Given the description of an element on the screen output the (x, y) to click on. 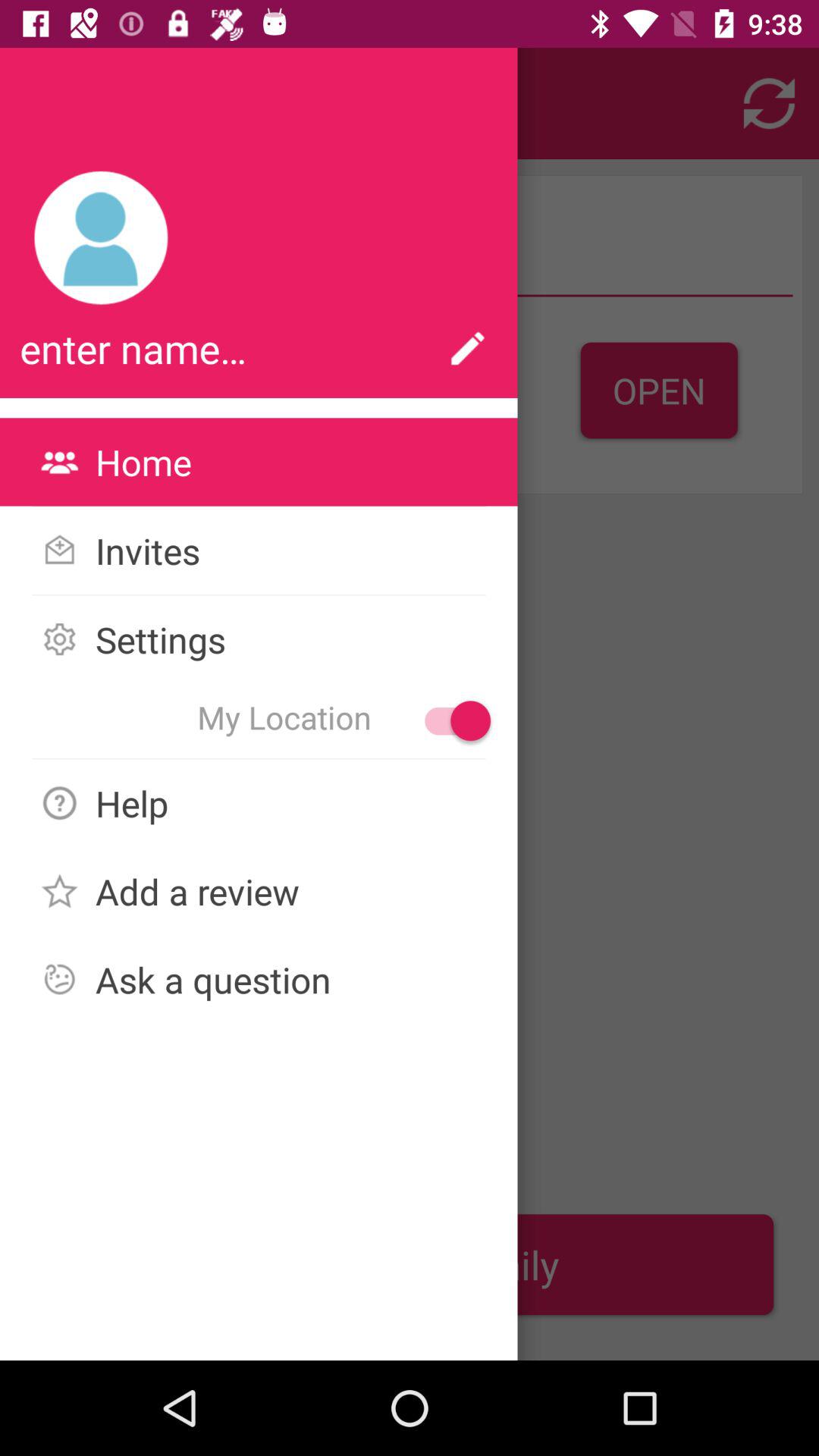
go to the icon above enter name (101, 238)
select the button which is right to enter name (467, 348)
select the icon which is above the text enter name (101, 238)
click on the star image icon to the left of the text add a review (59, 890)
